Given the description of an element on the screen output the (x, y) to click on. 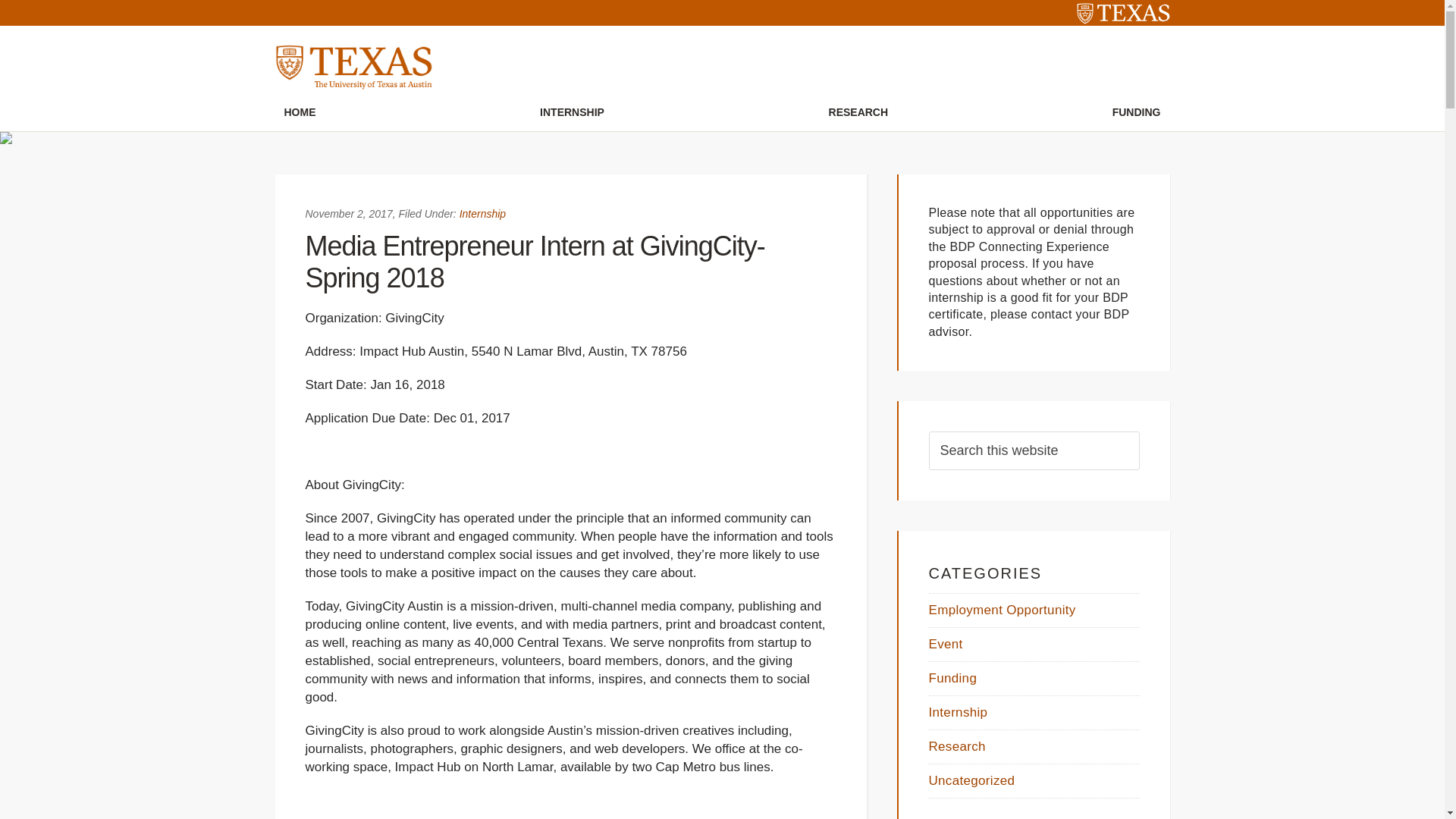
INTERNSHIP (571, 112)
Funding (952, 677)
Event (945, 644)
Employment Opportunity (1001, 609)
Internship (482, 214)
Internship (957, 712)
Research (956, 746)
RESEARCH (858, 112)
HOME (300, 112)
Uncategorized (971, 780)
FUNDING (1136, 112)
